Given the description of an element on the screen output the (x, y) to click on. 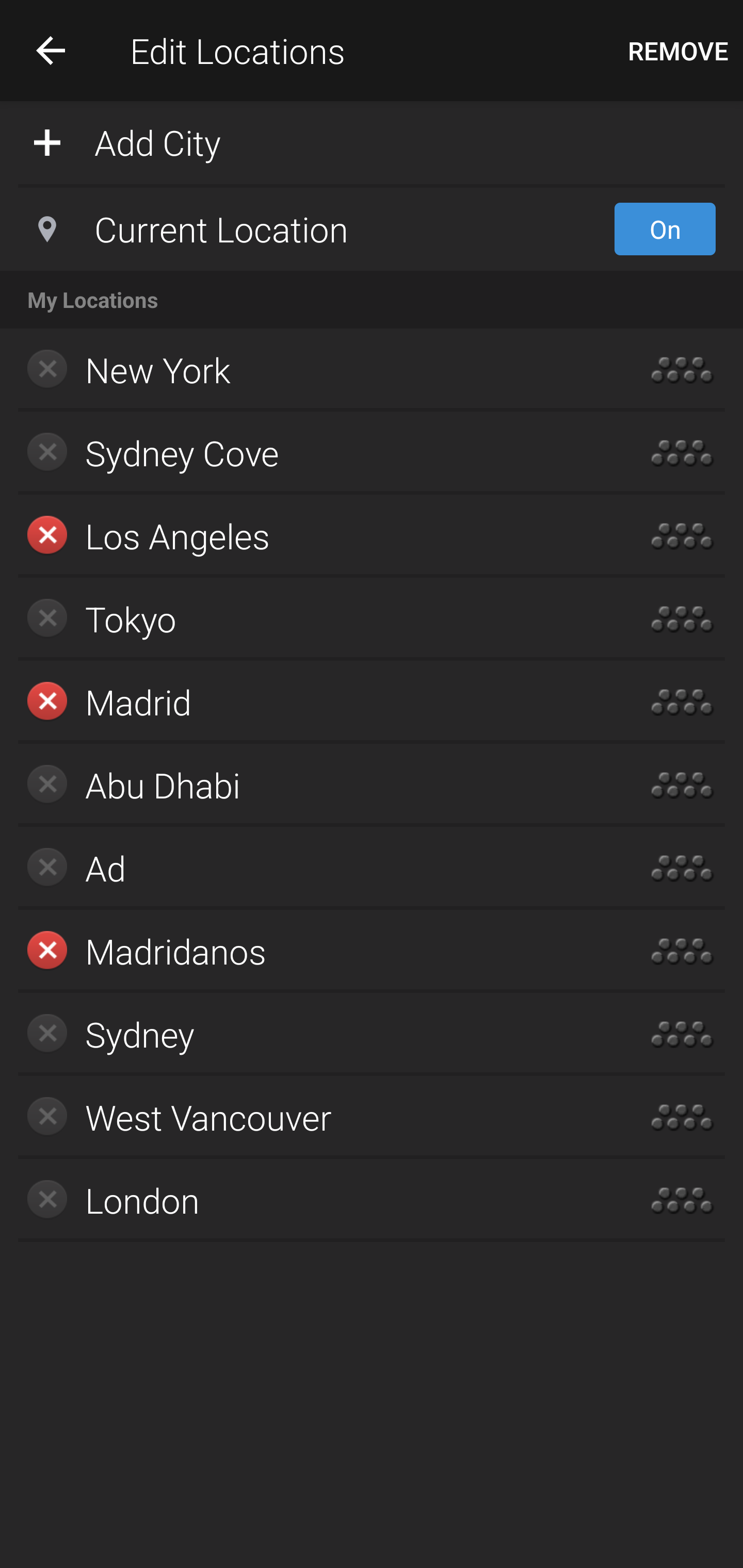
Navigate up (50, 50)
REMOVE (677, 50)
Add City (371, 141)
Current Location: On Current Location On (371, 229)
Delete: New York New York (311, 369)
Delete: Sydney Cove Sydney Cove (311, 452)
Delete: Los Angeles: Selected Los Angeles (311, 535)
Delete: Tokyo Tokyo (311, 618)
Delete: Madrid: Selected Madrid (311, 701)
Delete: Abu Dhabi Abu Dhabi (311, 784)
Delete: Ad Ad (311, 867)
Delete: Madridanos: Selected Madridanos (311, 950)
Delete: Sydney Sydney (311, 1033)
Delete: West Vancouver West Vancouver (311, 1116)
Delete: London London (311, 1200)
